Given the description of an element on the screen output the (x, y) to click on. 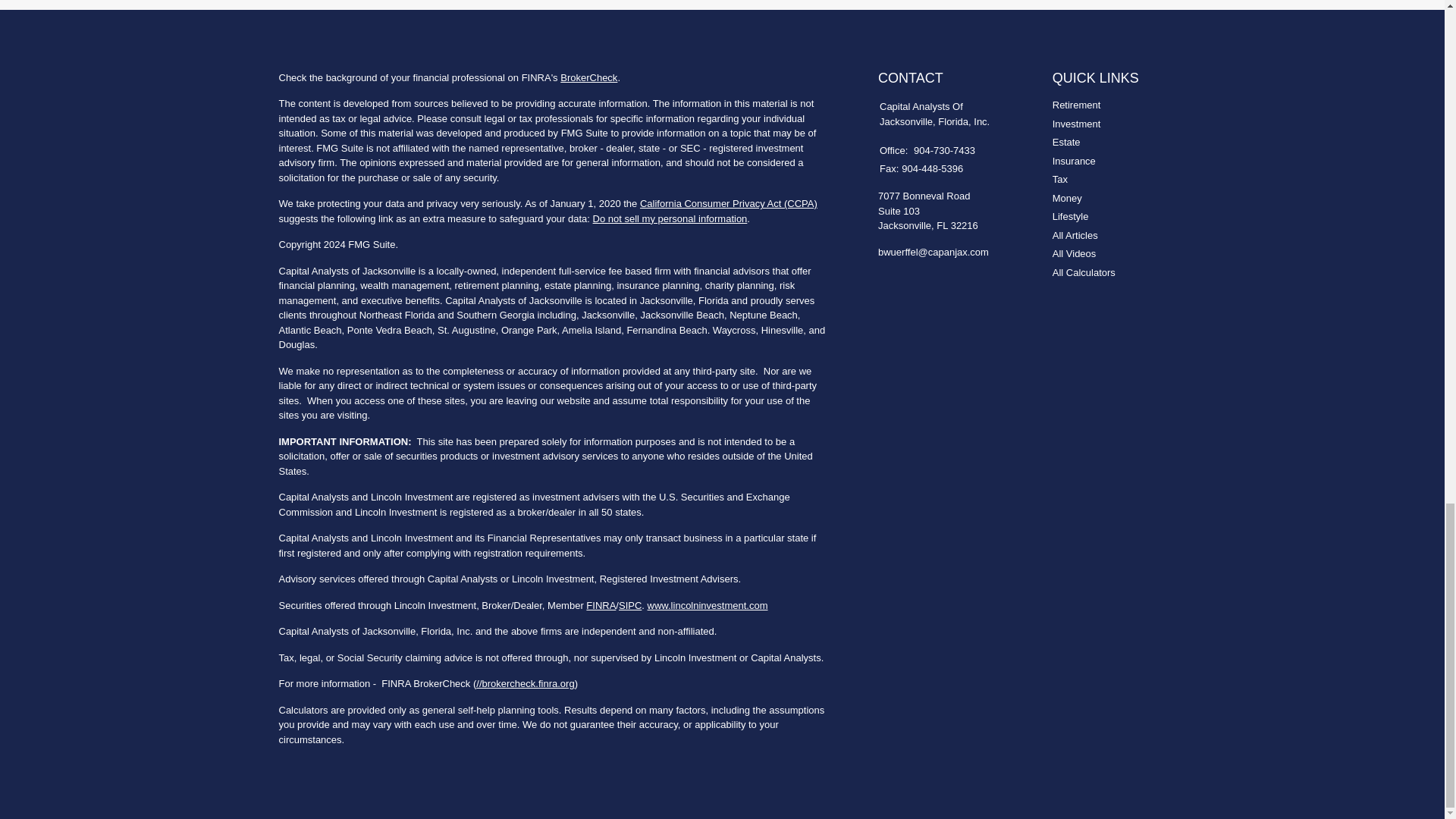
BrokerCheck (588, 77)
SIPC (630, 604)
www.lincolninvestment.com (707, 604)
Do not sell my personal information (670, 218)
FINRA (600, 604)
